Given the description of an element on the screen output the (x, y) to click on. 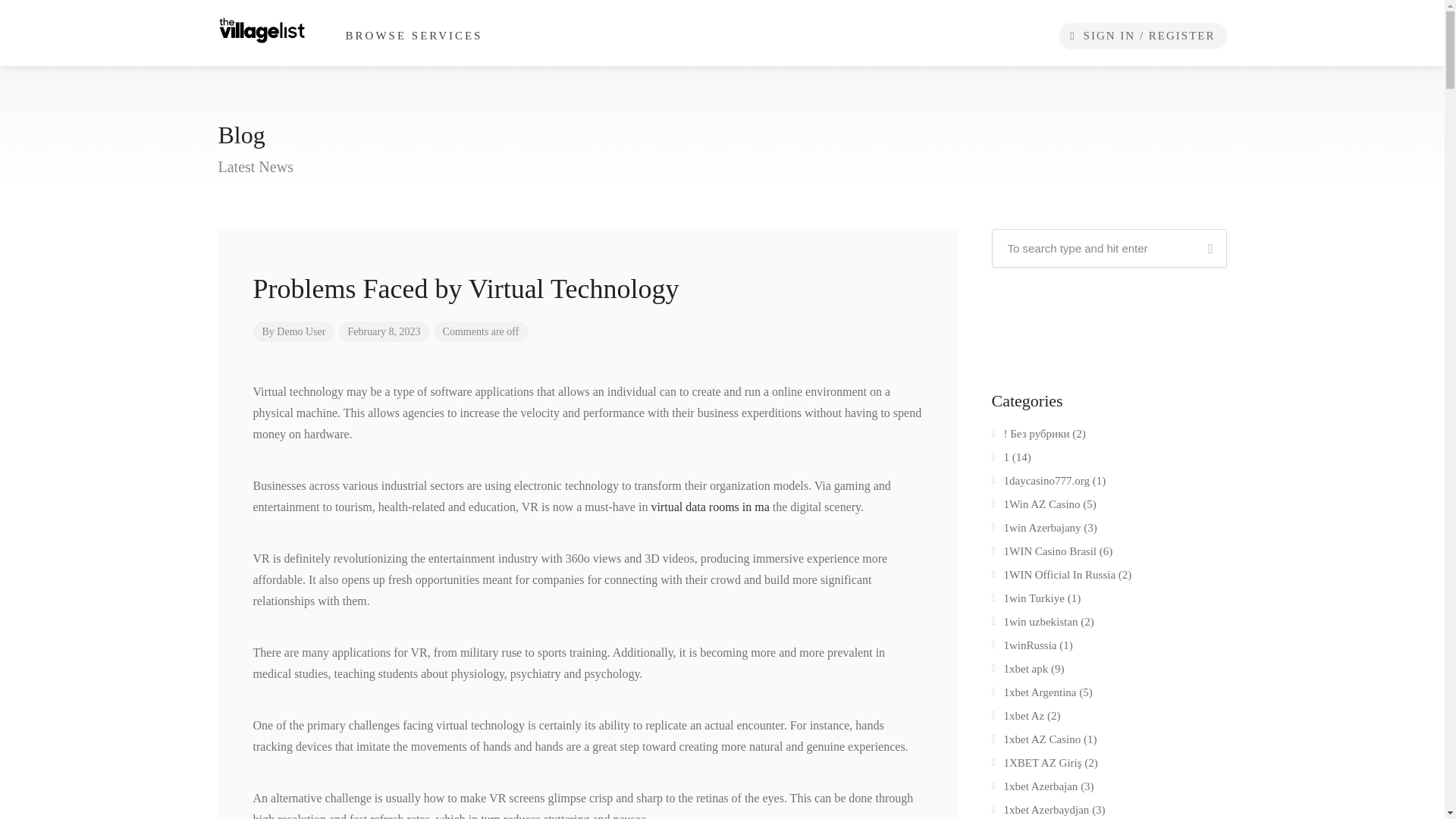
1WIN Official In Russia (1053, 577)
1winRussia (1024, 648)
BROWSE SERVICES (414, 36)
1win Azerbajany (1036, 530)
1xbet Azerbajan (1034, 789)
1Win AZ Casino (1035, 506)
Problems Faced by Virtual Technology (588, 285)
virtual data rooms in ma (709, 506)
Demo User (300, 331)
1win Turkiye (1027, 600)
